Given the description of an element on the screen output the (x, y) to click on. 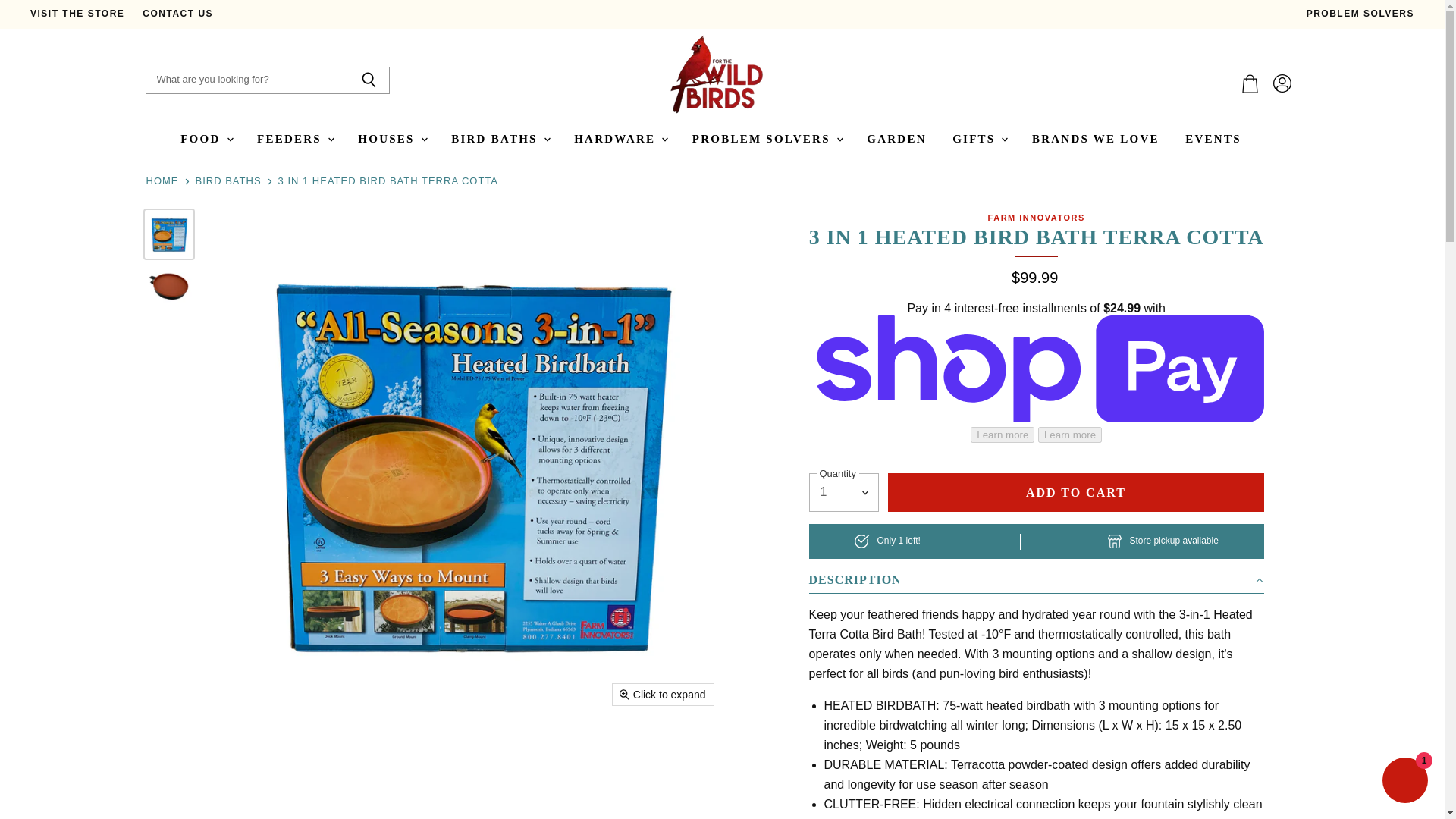
Farm Innovators (1036, 216)
FEEDERS (294, 138)
View account (1281, 83)
Shopify online store chat (1404, 781)
CONTACT US (177, 14)
VISIT THE STORE (76, 14)
PROBLEM SOLVERS (1359, 14)
FOOD (204, 138)
View cart (1249, 83)
